Given the description of an element on the screen output the (x, y) to click on. 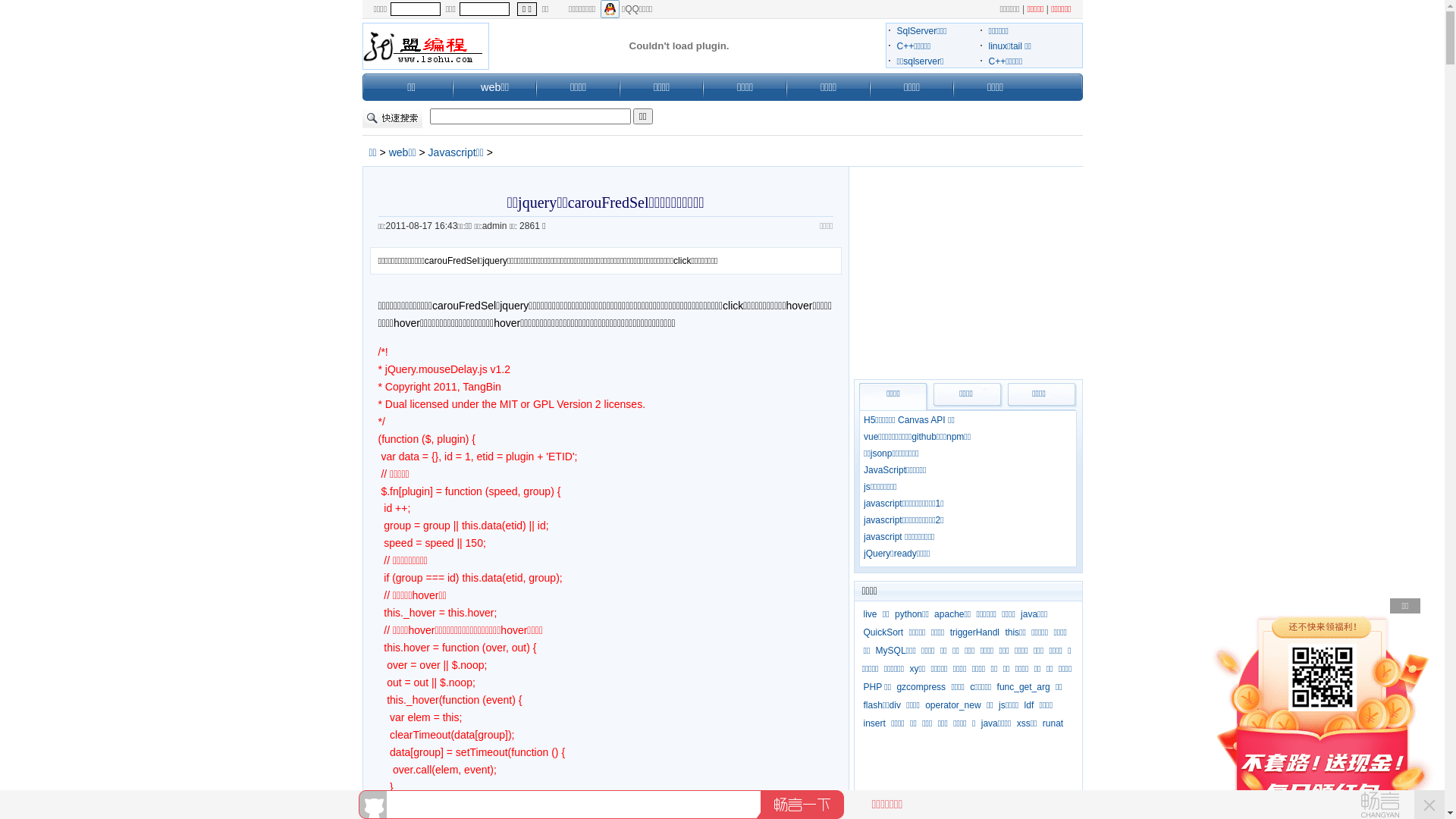
QuickSort Element type: text (882, 632)
operator_new Element type: text (952, 705)
Advertisement Element type: hover (967, 269)
ldf Element type: text (1028, 705)
triggerHandl Element type: text (974, 632)
runat Element type: text (1052, 723)
insert Element type: text (873, 723)
live Element type: text (869, 614)
func_get_arg Element type: text (1023, 686)
gzcompress Element type: text (920, 686)
